Given the description of an element on the screen output the (x, y) to click on. 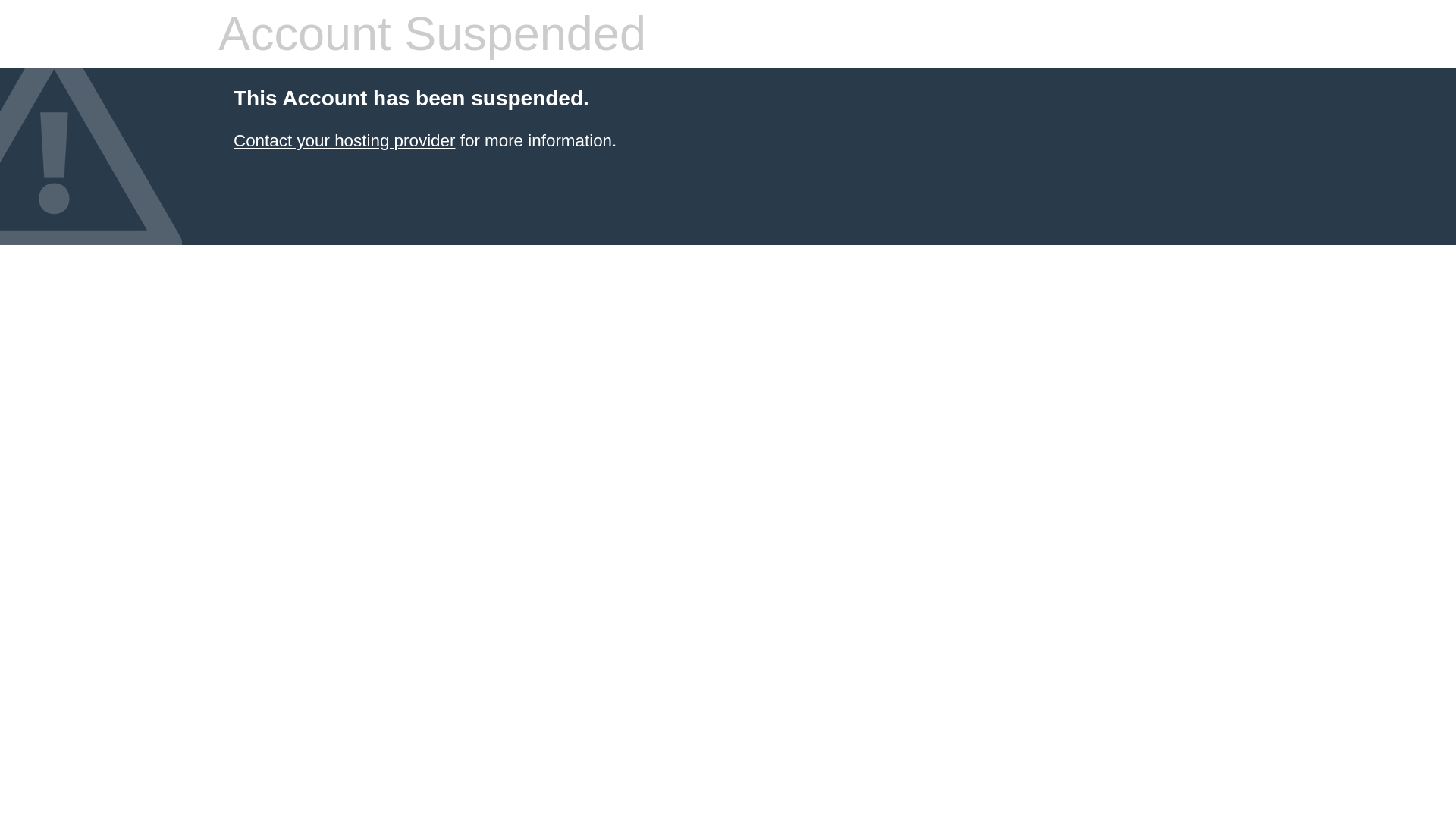
Contact your hosting provider (343, 140)
Emaila Private Limited (343, 140)
